Given the description of an element on the screen output the (x, y) to click on. 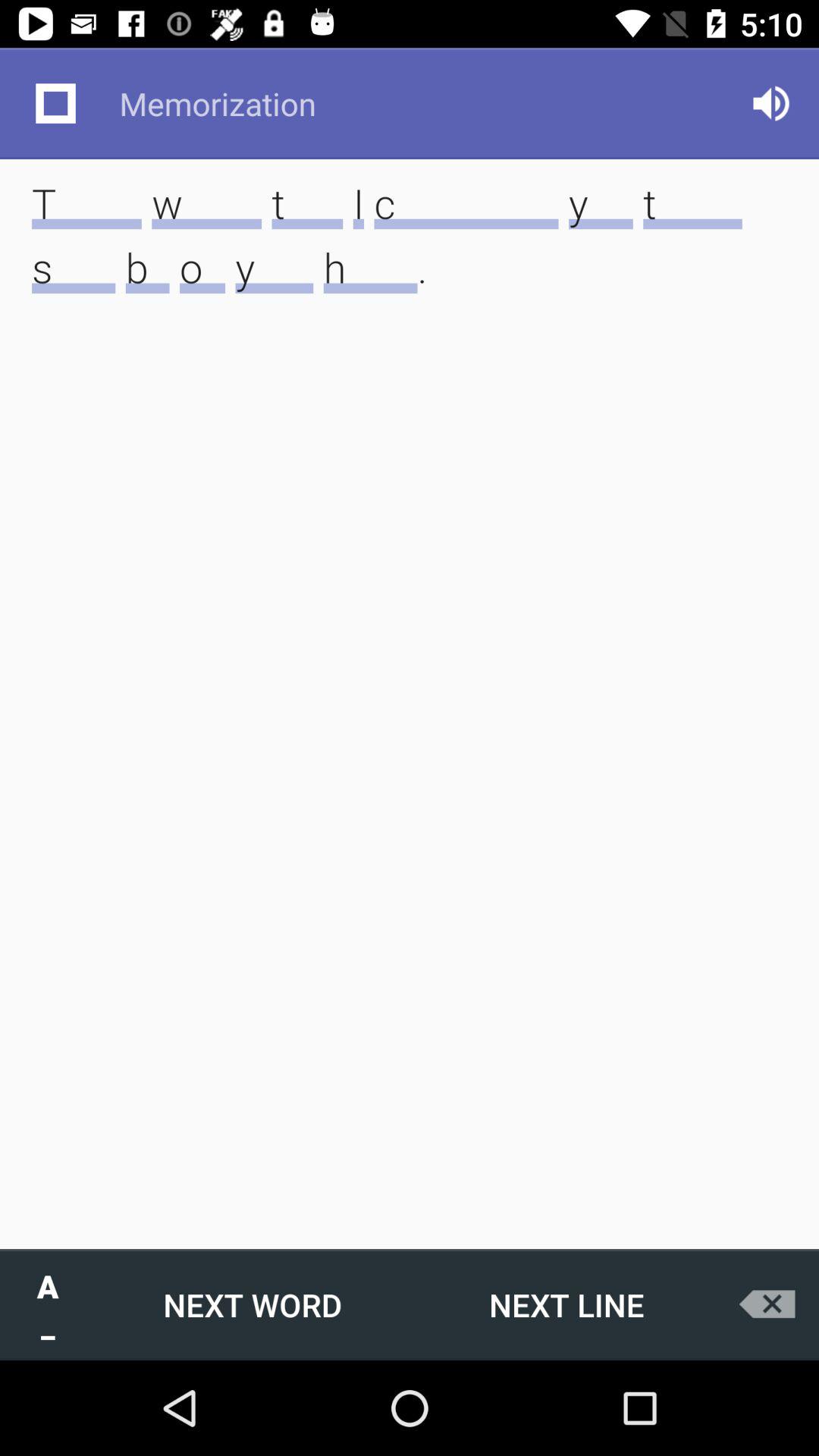
press the icon next to memorization (771, 103)
